Given the description of an element on the screen output the (x, y) to click on. 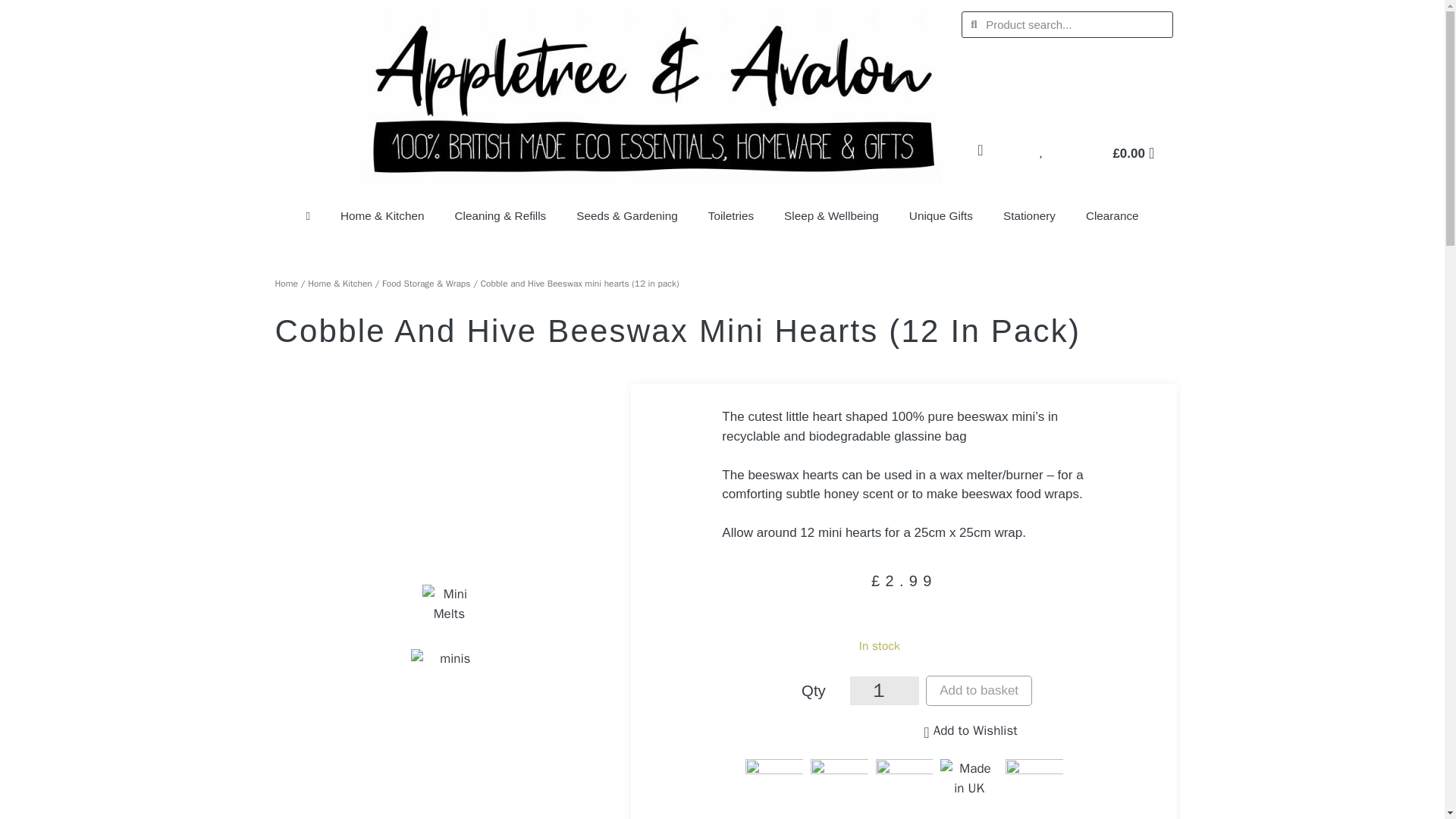
Stationery (1029, 216)
Toiletries (730, 216)
Unique Gifts (940, 216)
1 (884, 690)
Clearance (1112, 216)
